Given the description of an element on the screen output the (x, y) to click on. 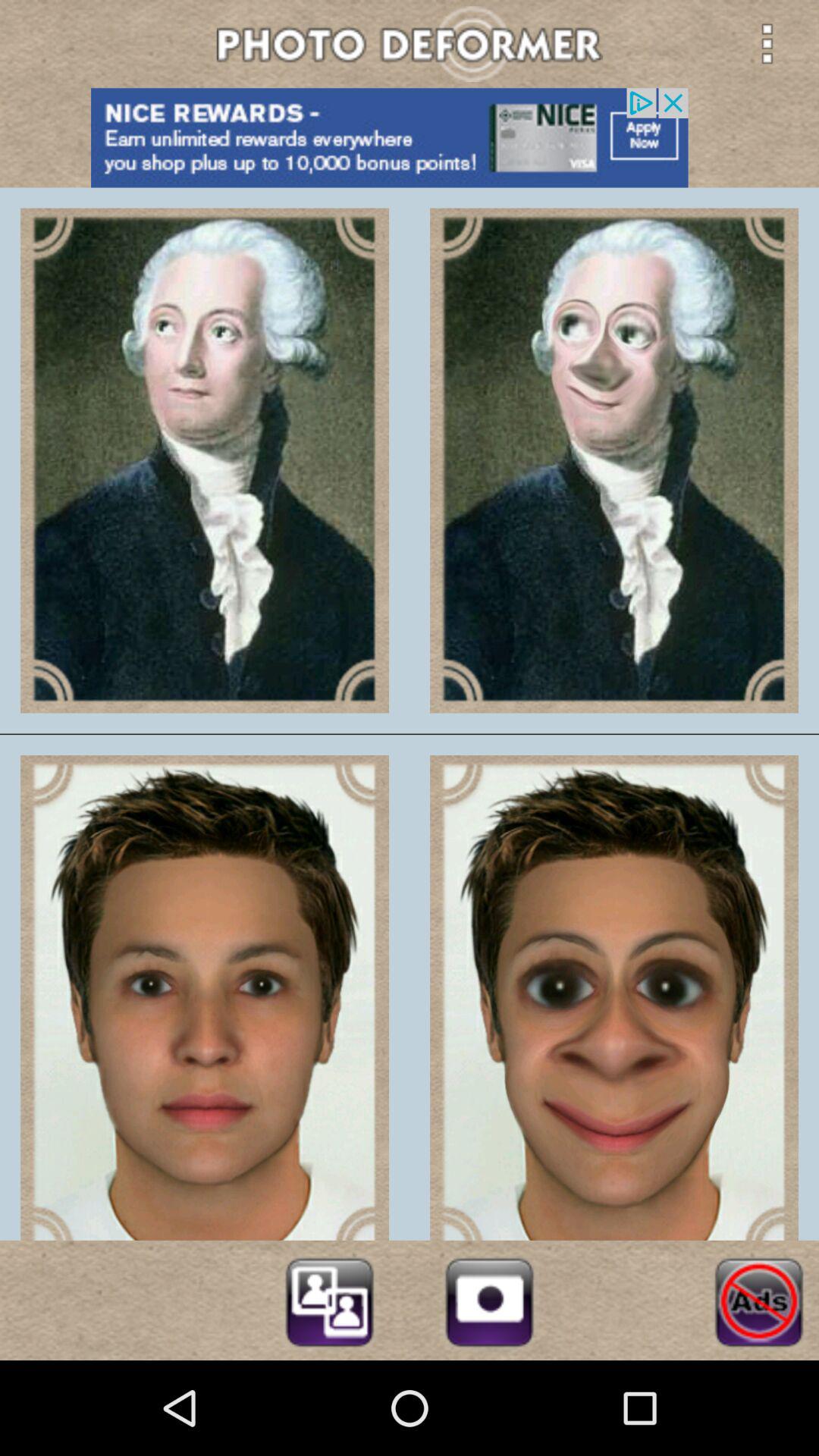
open camera (489, 1300)
